Given the description of an element on the screen output the (x, y) to click on. 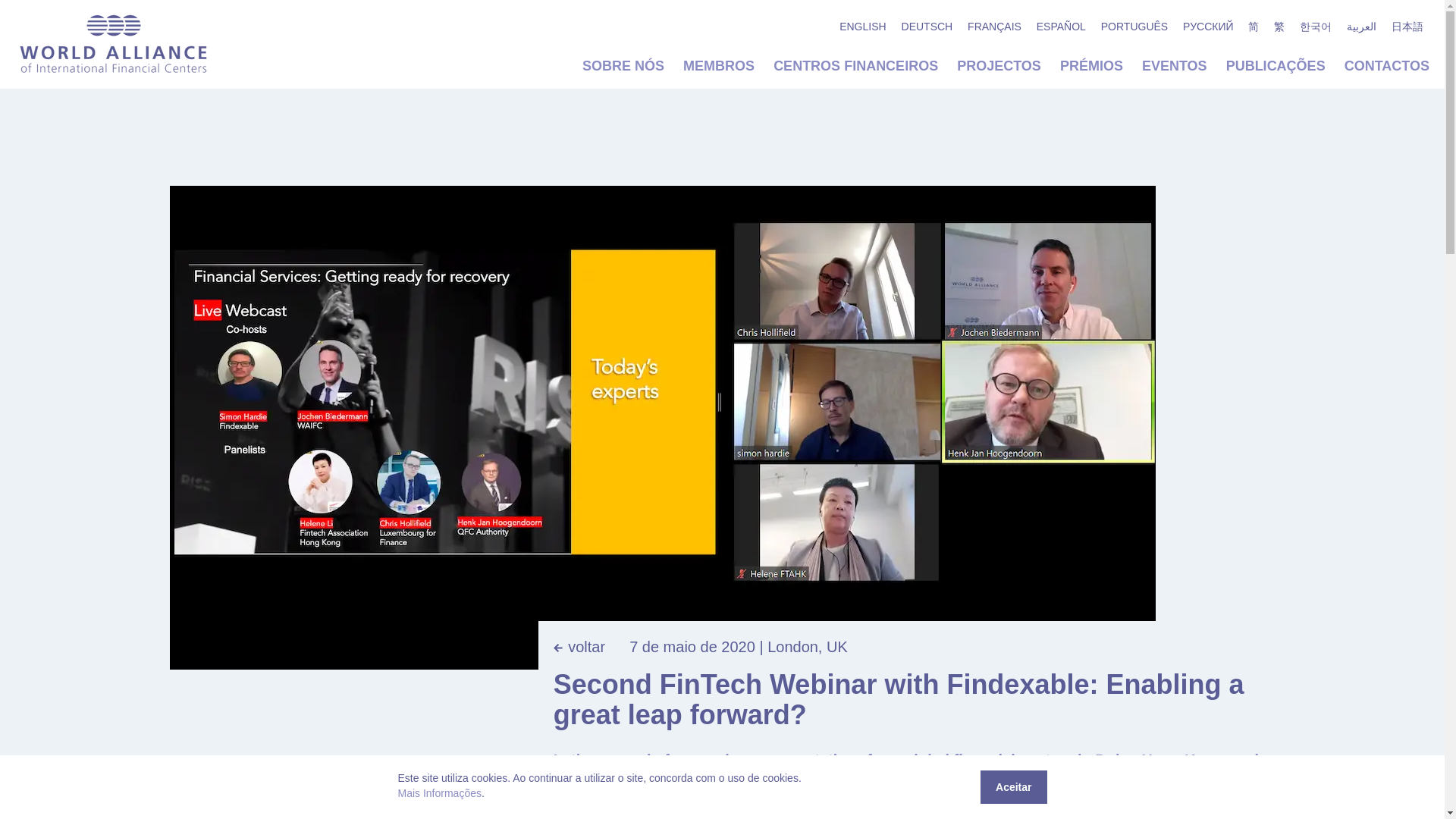
Aceitar (1012, 786)
MEMBROS (718, 64)
PROJECTOS (998, 64)
DEUTSCH (927, 25)
CONTACTOS (1386, 64)
voltar (579, 646)
EVENTOS (1174, 64)
ENGLISH (862, 25)
CENTROS FINANCEIROS (855, 64)
